Given the description of an element on the screen output the (x, y) to click on. 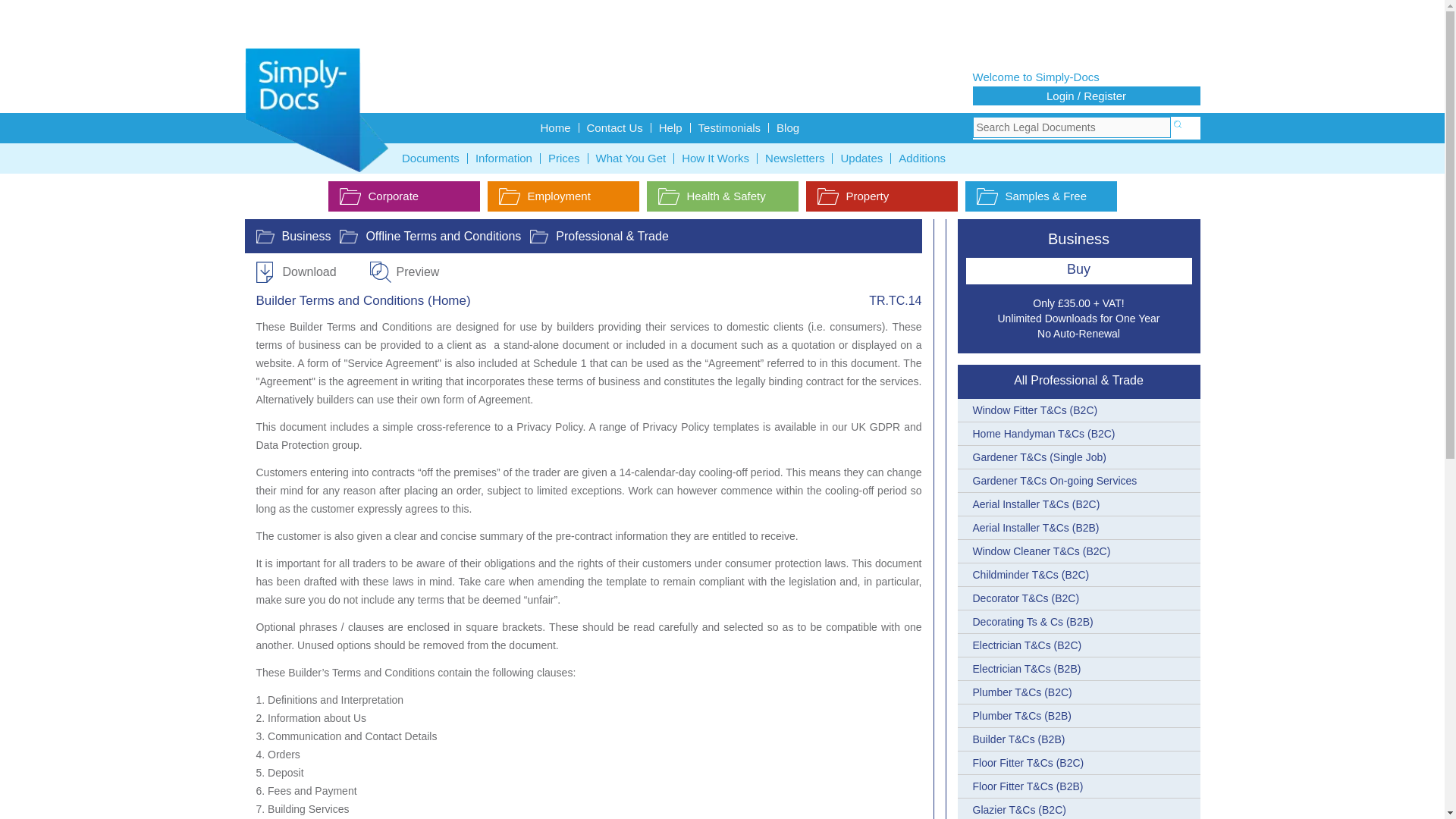
Testimonials (730, 127)
Help (670, 127)
Contact Us (614, 127)
Home (555, 127)
Blog (787, 127)
Customer reviews powered by Trustpilot (721, 25)
Documents (430, 158)
